Given the description of an element on the screen output the (x, y) to click on. 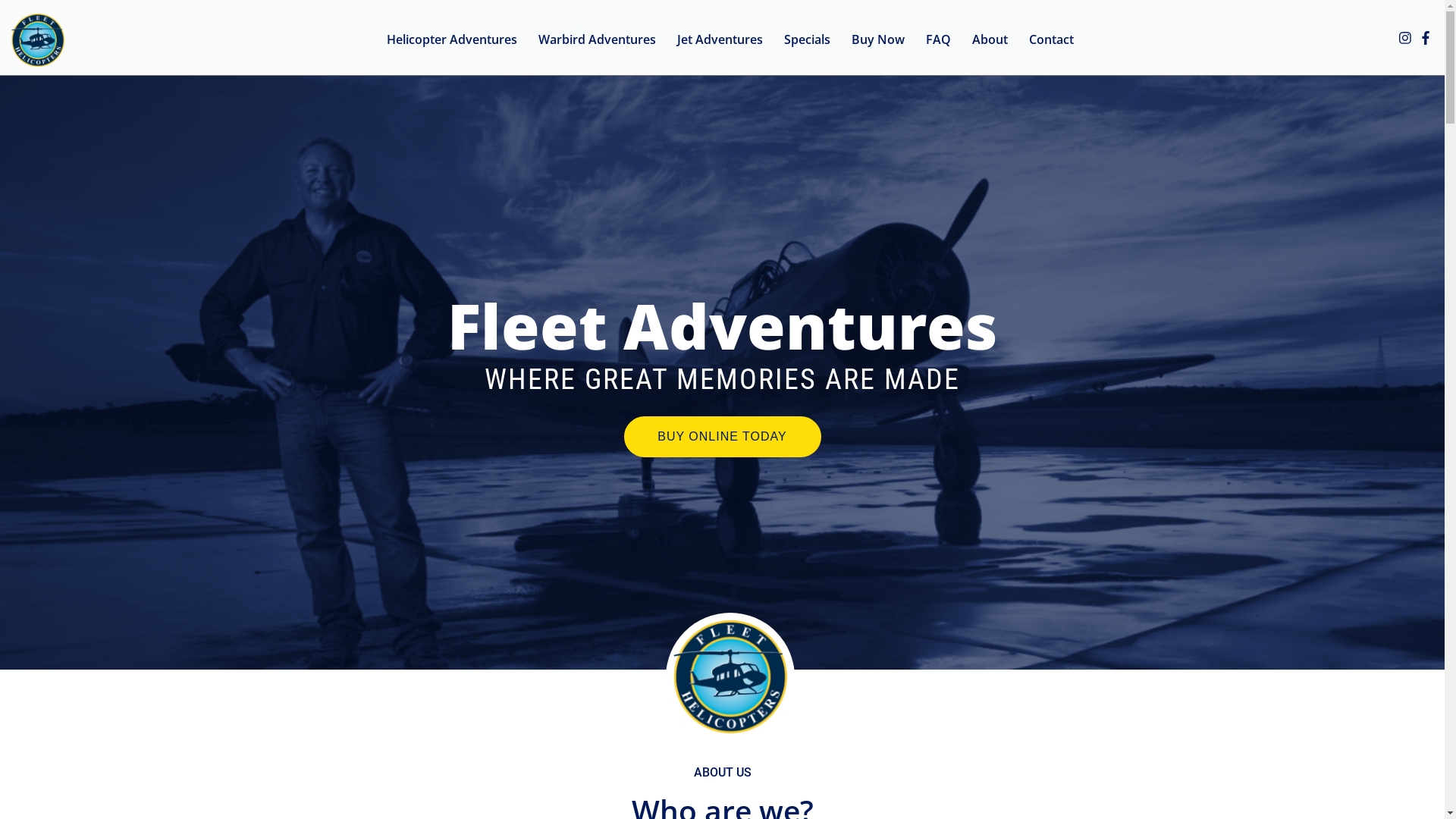
Helicopter Adventures Element type: text (451, 37)
Buy Now Element type: text (877, 37)
FAQ Element type: text (937, 37)
BUY ONLINE TODAY Element type: text (721, 434)
BUY ONLINE TODAY Element type: text (721, 436)
Contact Element type: text (1051, 37)
Warbird Adventures Element type: text (596, 37)
Jet Adventures Element type: text (719, 37)
Specials Element type: text (807, 37)
About Element type: text (989, 37)
